Given the description of an element on the screen output the (x, y) to click on. 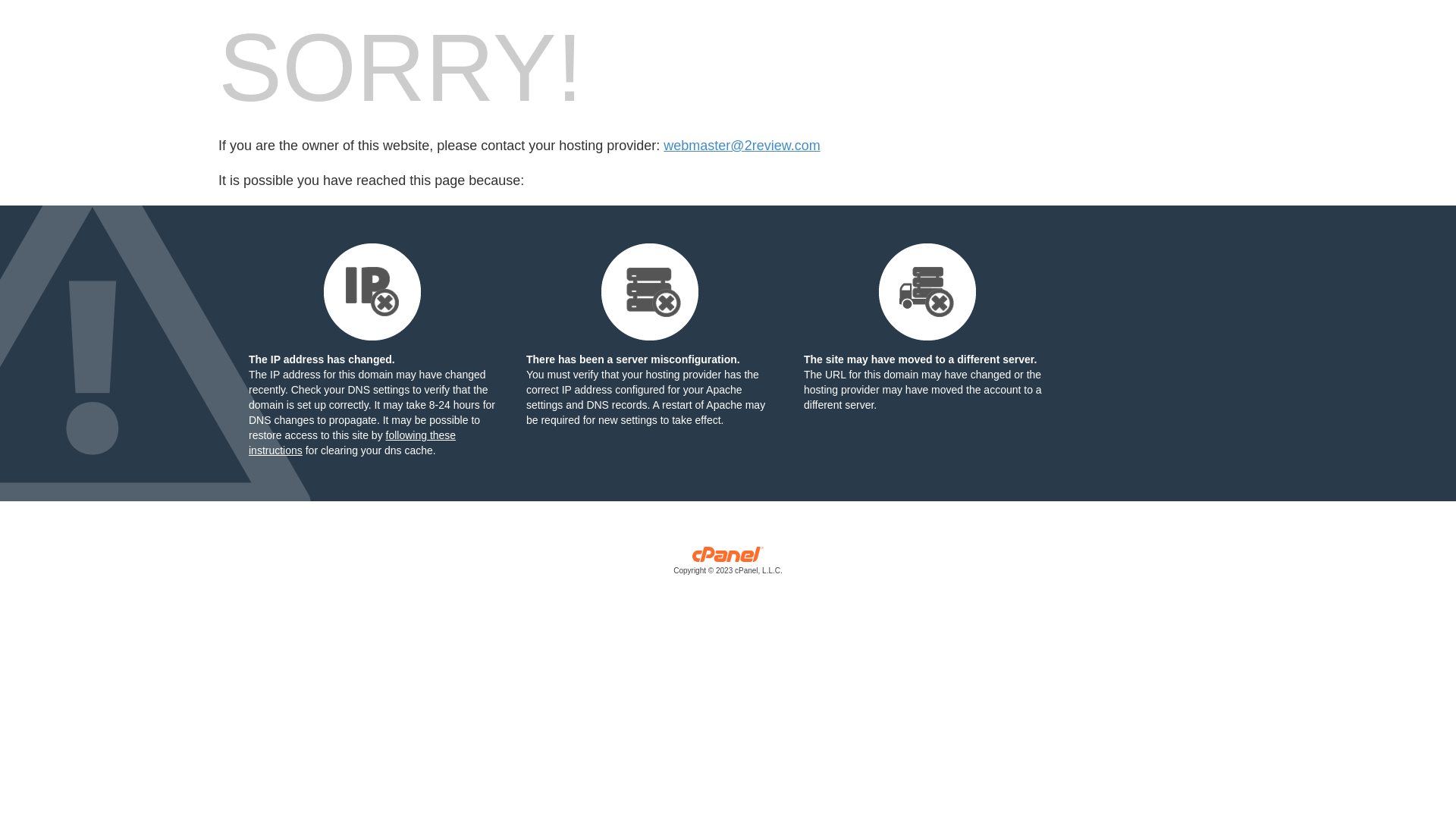
following these instructions Element type: text (351, 442)
webmaster@2review.com Element type: text (741, 145)
